Given the description of an element on the screen output the (x, y) to click on. 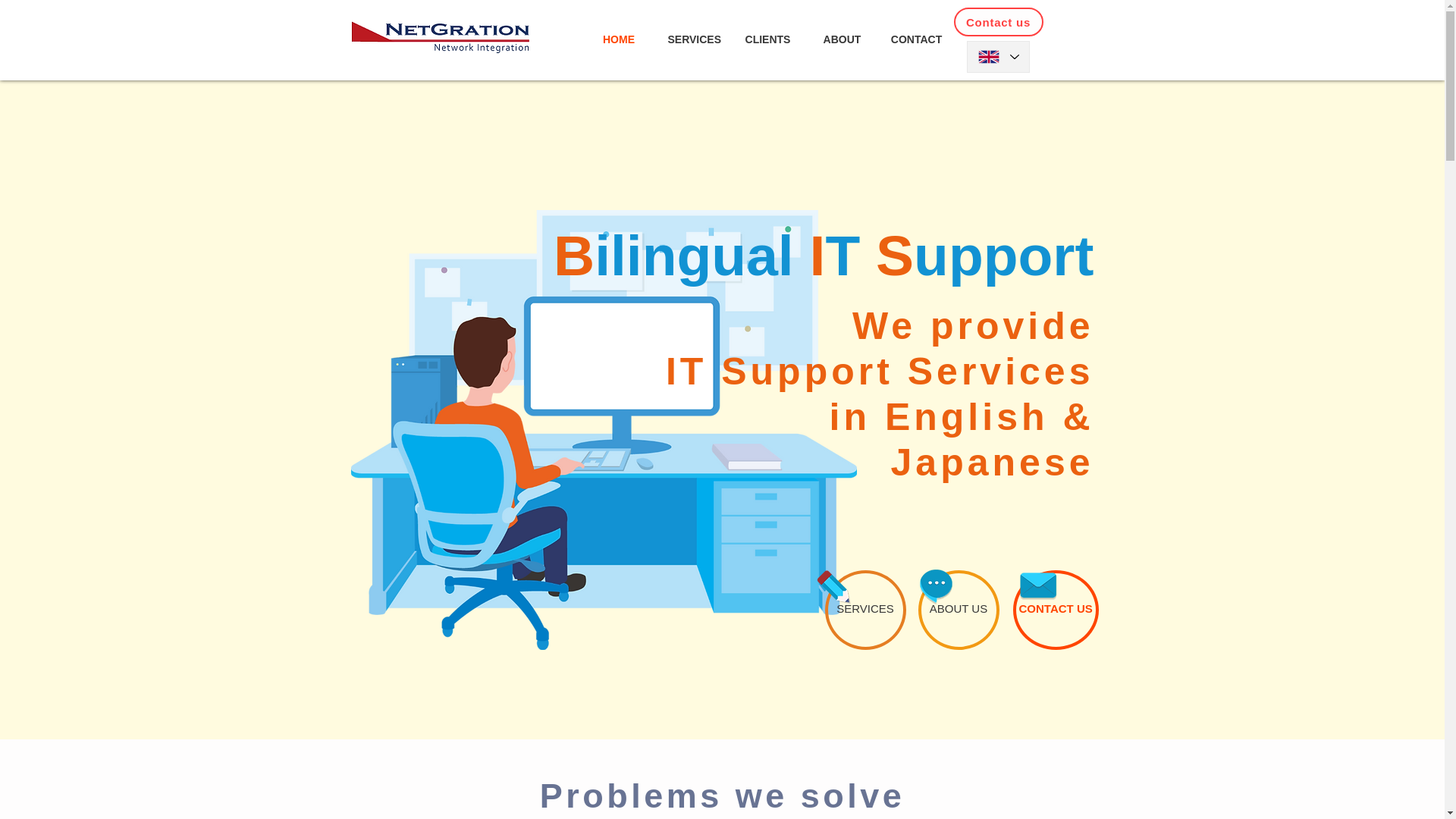
ABOUT (842, 39)
HOME (618, 39)
Contact us (998, 21)
CLIENTS (767, 39)
SERVICES (693, 39)
CONTACT (916, 39)
SERVICES (865, 610)
ABOUT US (957, 610)
CONTACT US (1056, 610)
